Given the description of an element on the screen output the (x, y) to click on. 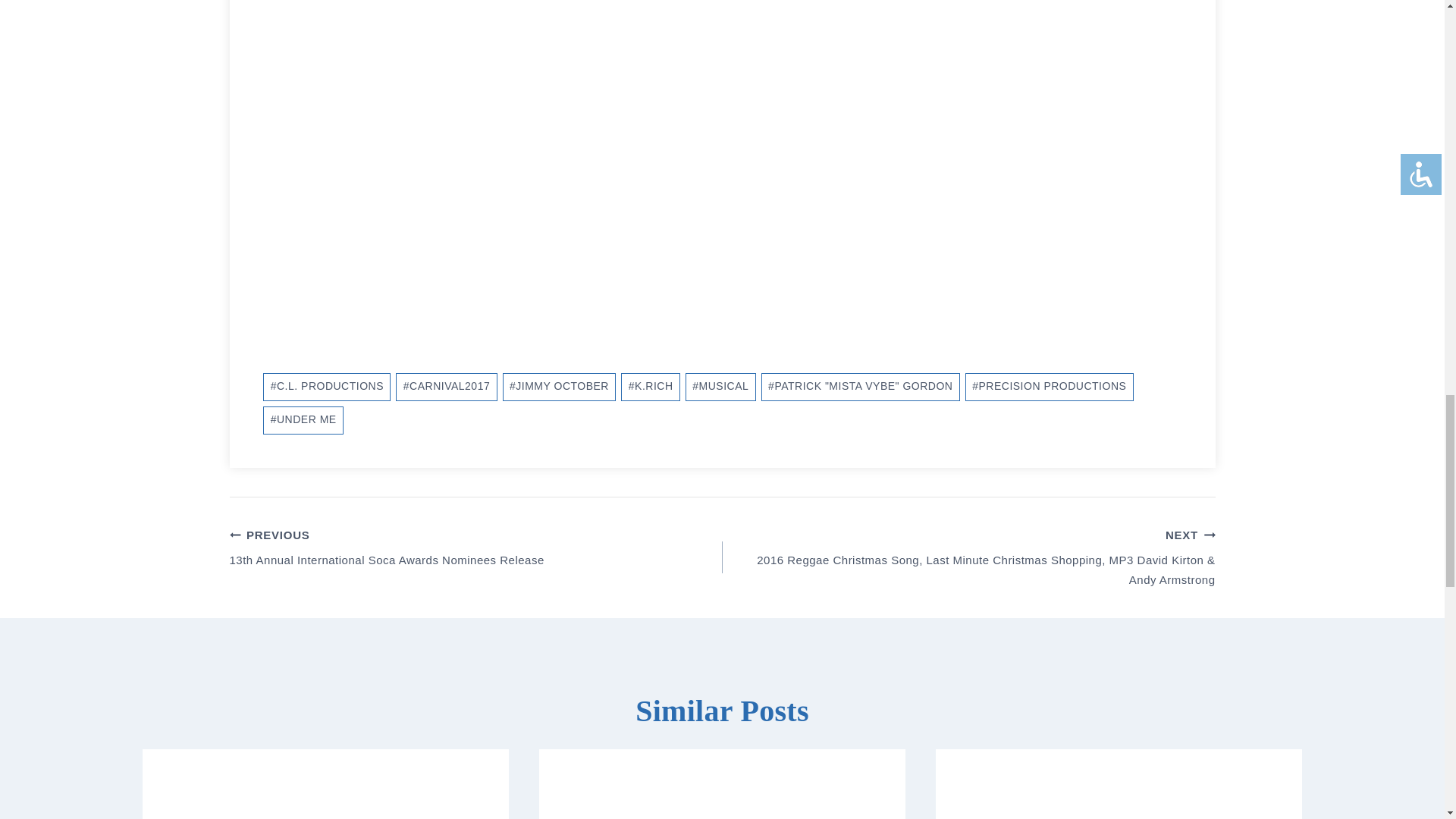
carnival2017 (446, 387)
Patrick "Mista Vybe" Gordon (860, 387)
Jimmy October (558, 387)
musical (720, 387)
C.L. Productions (326, 387)
Under Me (303, 420)
Precision Productions (1049, 387)
K.Rich (650, 387)
